Given the description of an element on the screen output the (x, y) to click on. 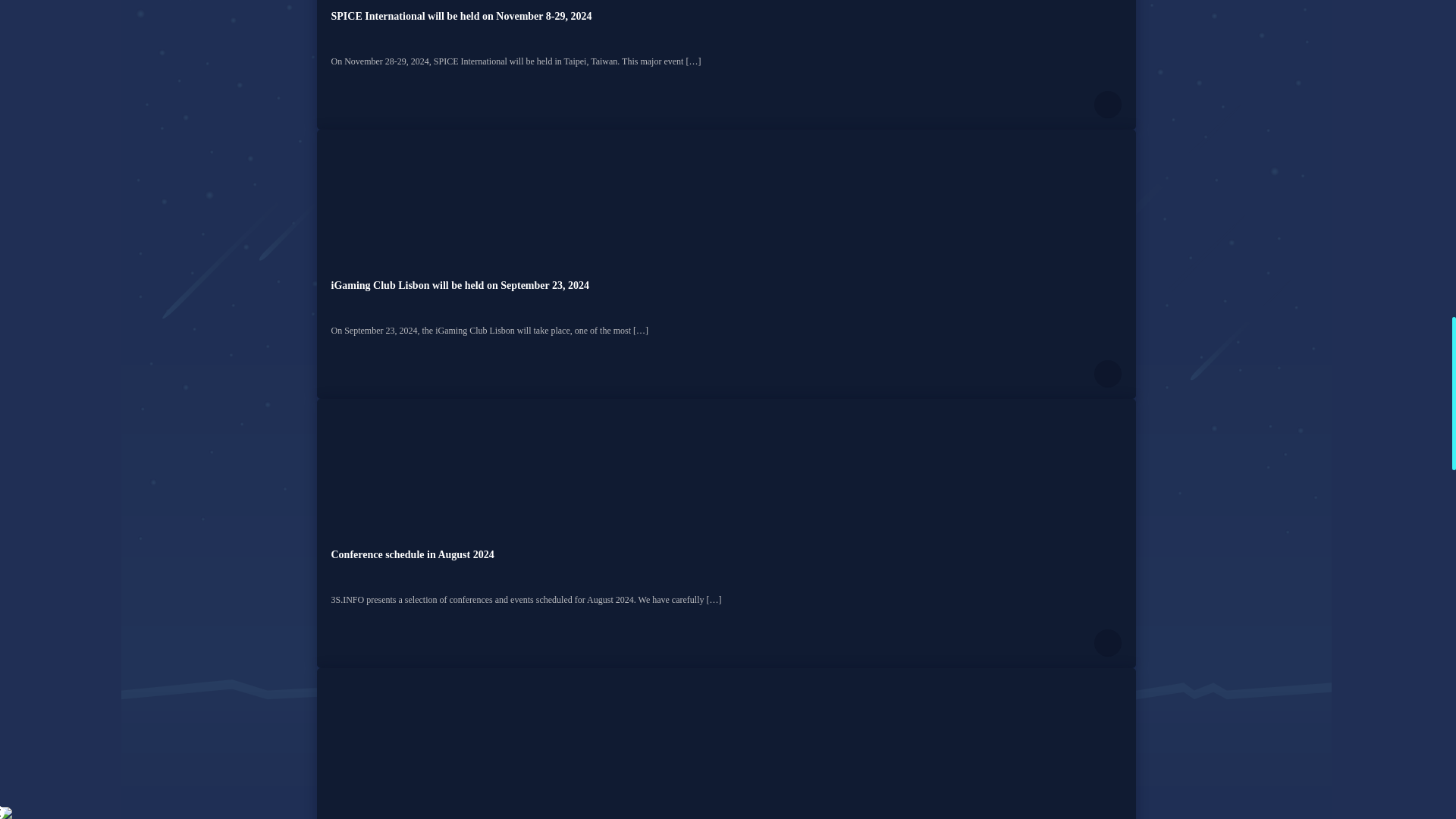
iGaming Club Lisbon will be held on September 23, 2024 (459, 285)
SPICE International will be held on November 8-29, 2024 (460, 16)
Conference schedule in August 2024 (411, 554)
